Given the description of an element on the screen output the (x, y) to click on. 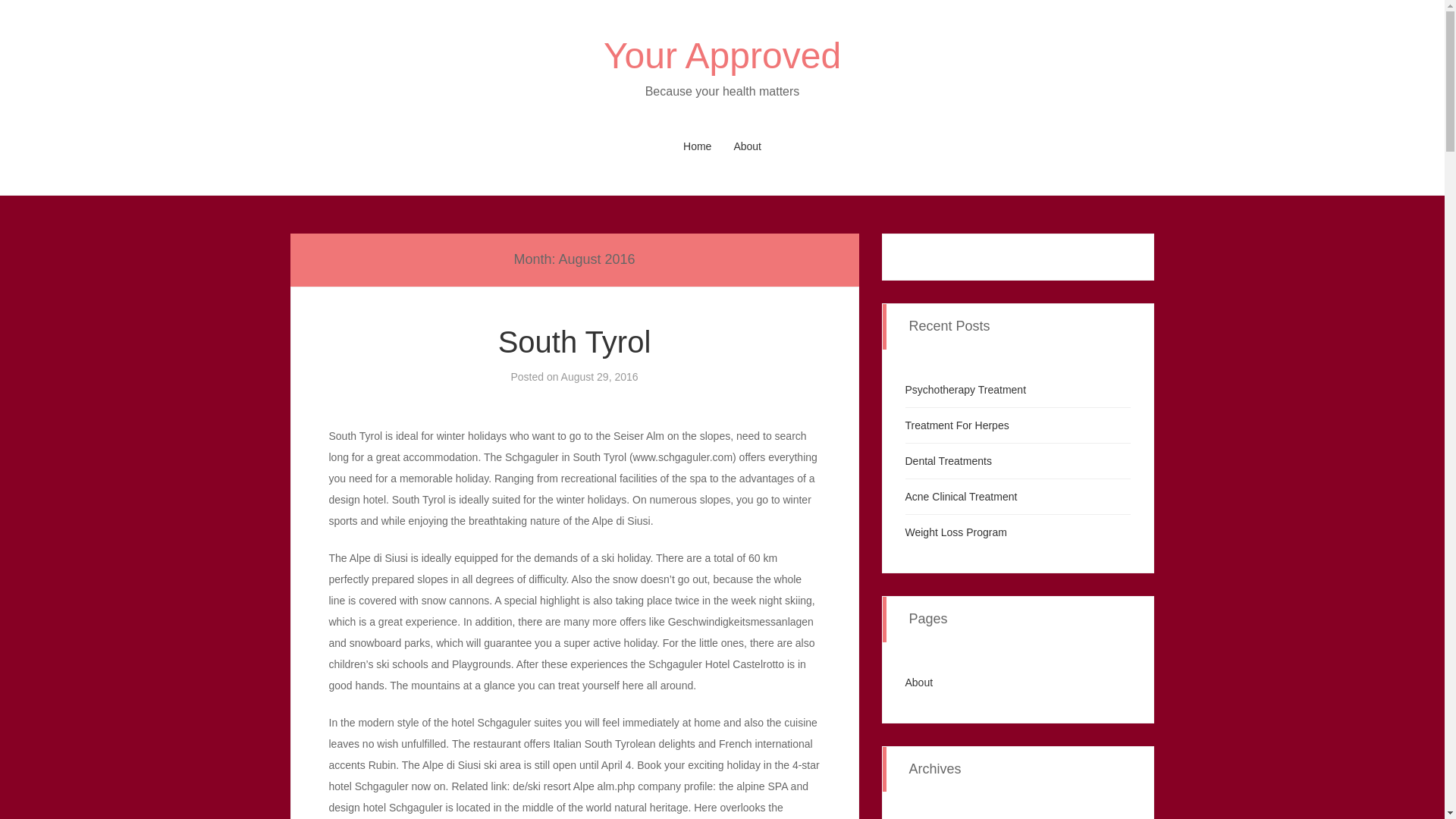
Home (697, 146)
Acne Clinical Treatment (961, 496)
About (746, 146)
Dental Treatments (948, 460)
August 29, 2016 (599, 377)
Psychotherapy Treatment (965, 389)
About (919, 682)
Weight Loss Program (956, 532)
Your Approved (722, 56)
Treatment For Herpes (957, 425)
